Given the description of an element on the screen output the (x, y) to click on. 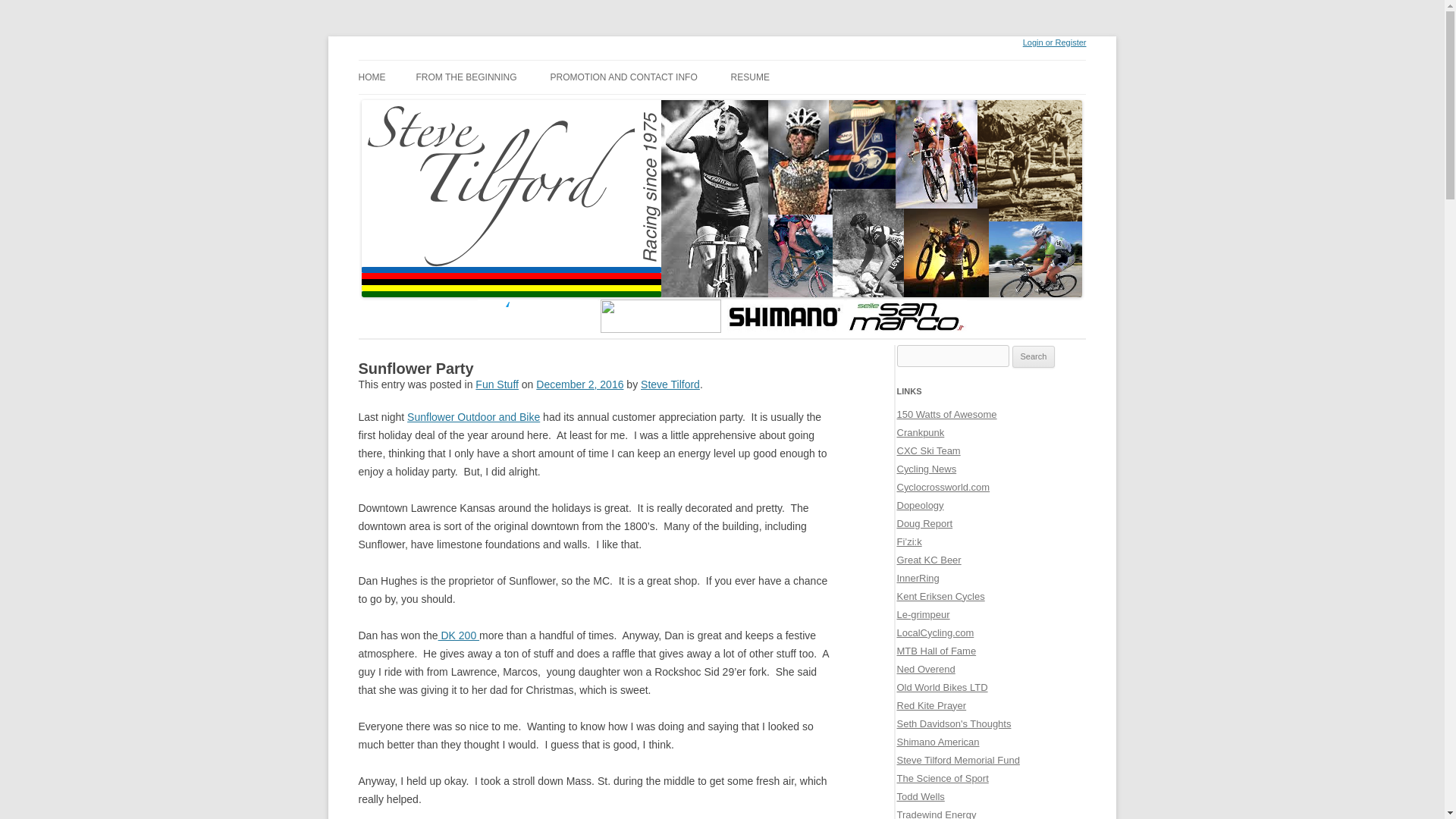
December 2, 2016 (579, 384)
Sunflower Outdoor and Bike (473, 417)
Steve Tilford (670, 384)
Great KC Beer (928, 559)
150 Watts of Awesome (945, 414)
Skip to content (375, 62)
View all posts by Steve Tilford (670, 384)
Search (1033, 356)
Doug Report (924, 523)
Skip to content (375, 62)
DK 200 (458, 635)
Fun Stuff (497, 384)
Search (1033, 356)
CXC Ski Team (927, 450)
Vintage motorcycle parts, service and restoration (941, 686)
